Given the description of an element on the screen output the (x, y) to click on. 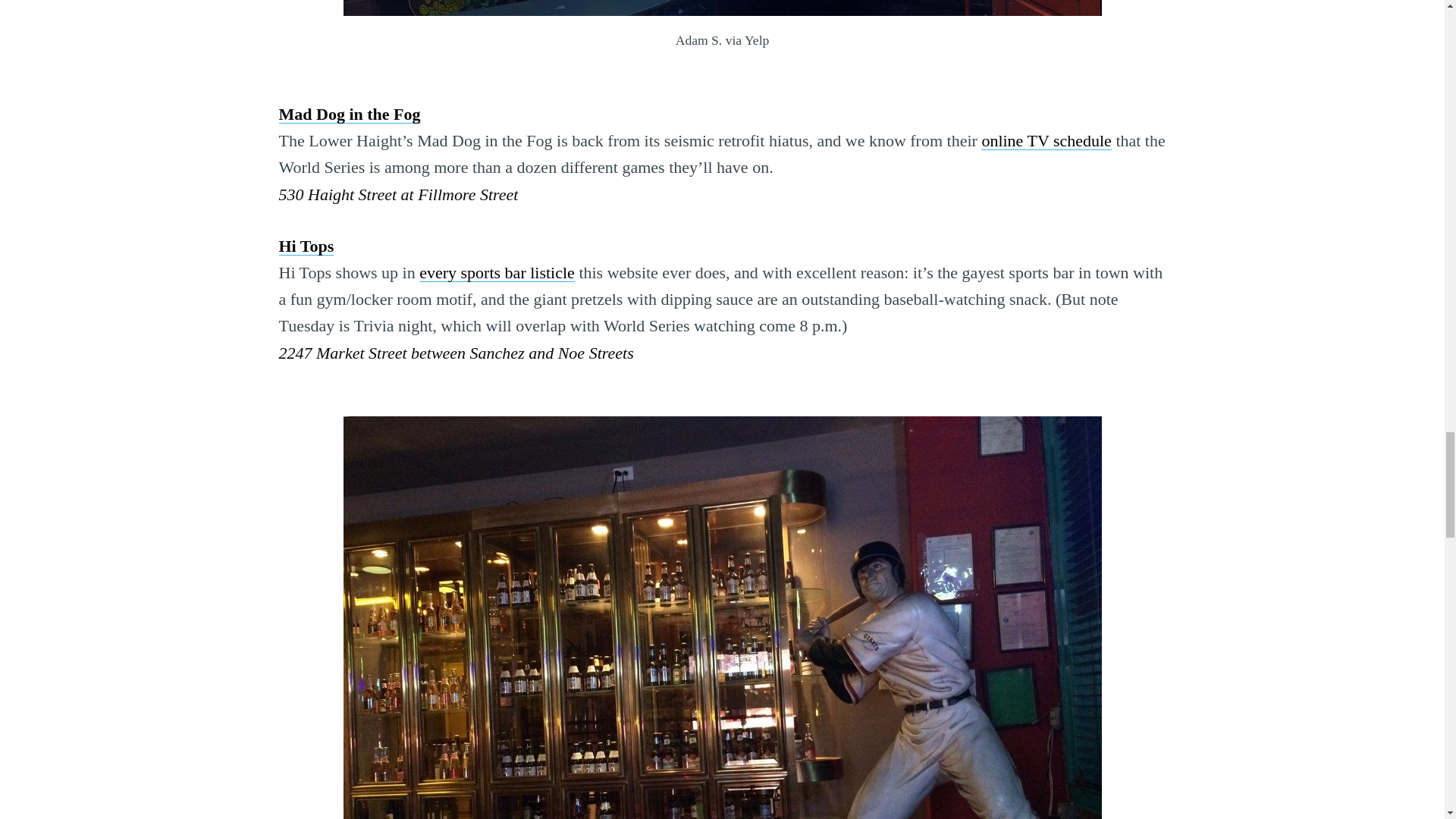
every sports bar listicle (497, 271)
Mad Dog in the Fog (349, 113)
Hi Tops (306, 245)
online TV schedule (1046, 140)
